Given the description of an element on the screen output the (x, y) to click on. 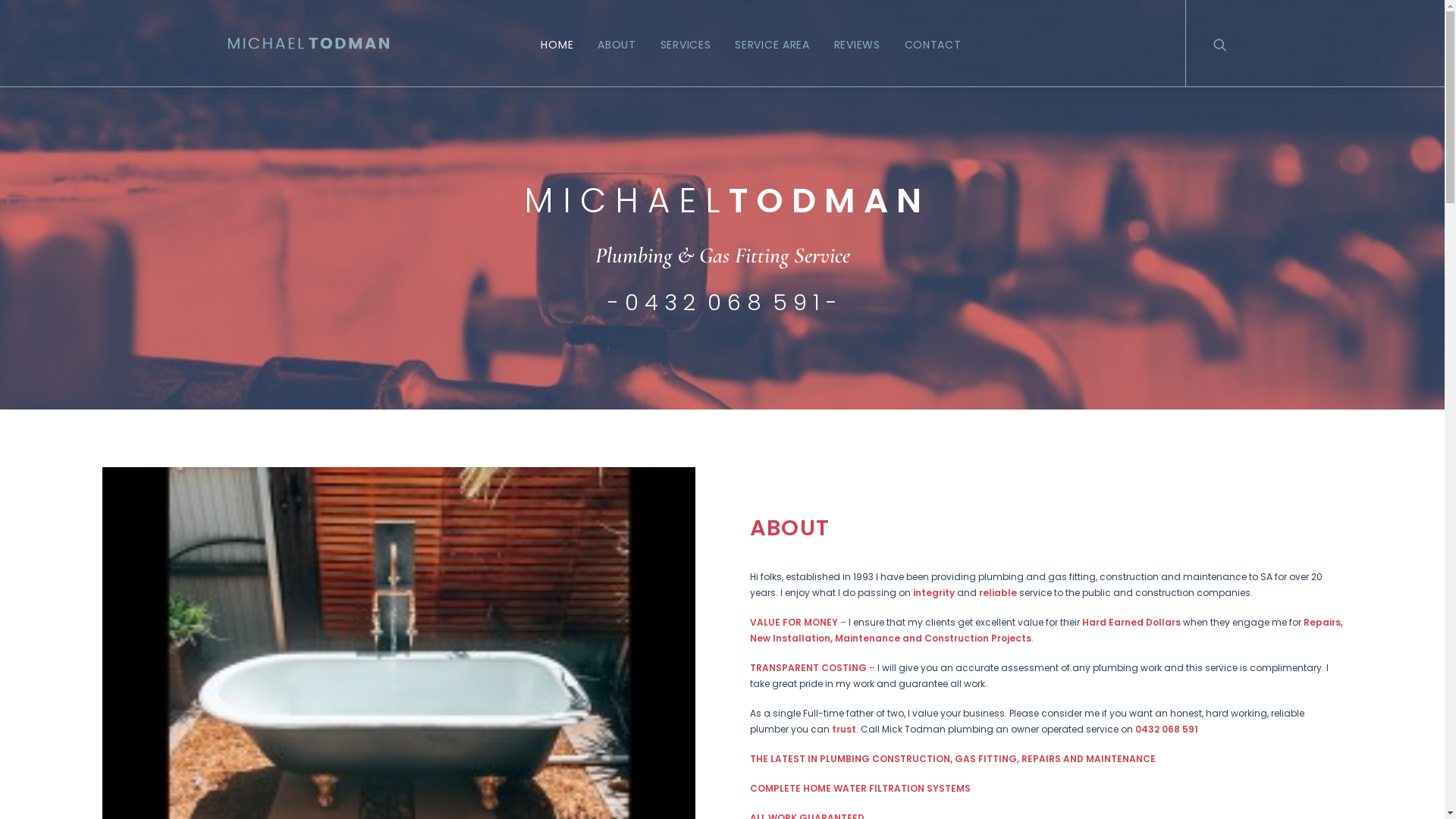
SERVICE AREA Element type: text (771, 43)
REVIEWS Element type: text (857, 43)
HOME Element type: text (561, 43)
CONTACT Element type: text (927, 43)
0432 068 591 Element type: text (1165, 728)
SERVICES Element type: text (685, 43)
ABOUT Element type: text (616, 43)
